Given the description of an element on the screen output the (x, y) to click on. 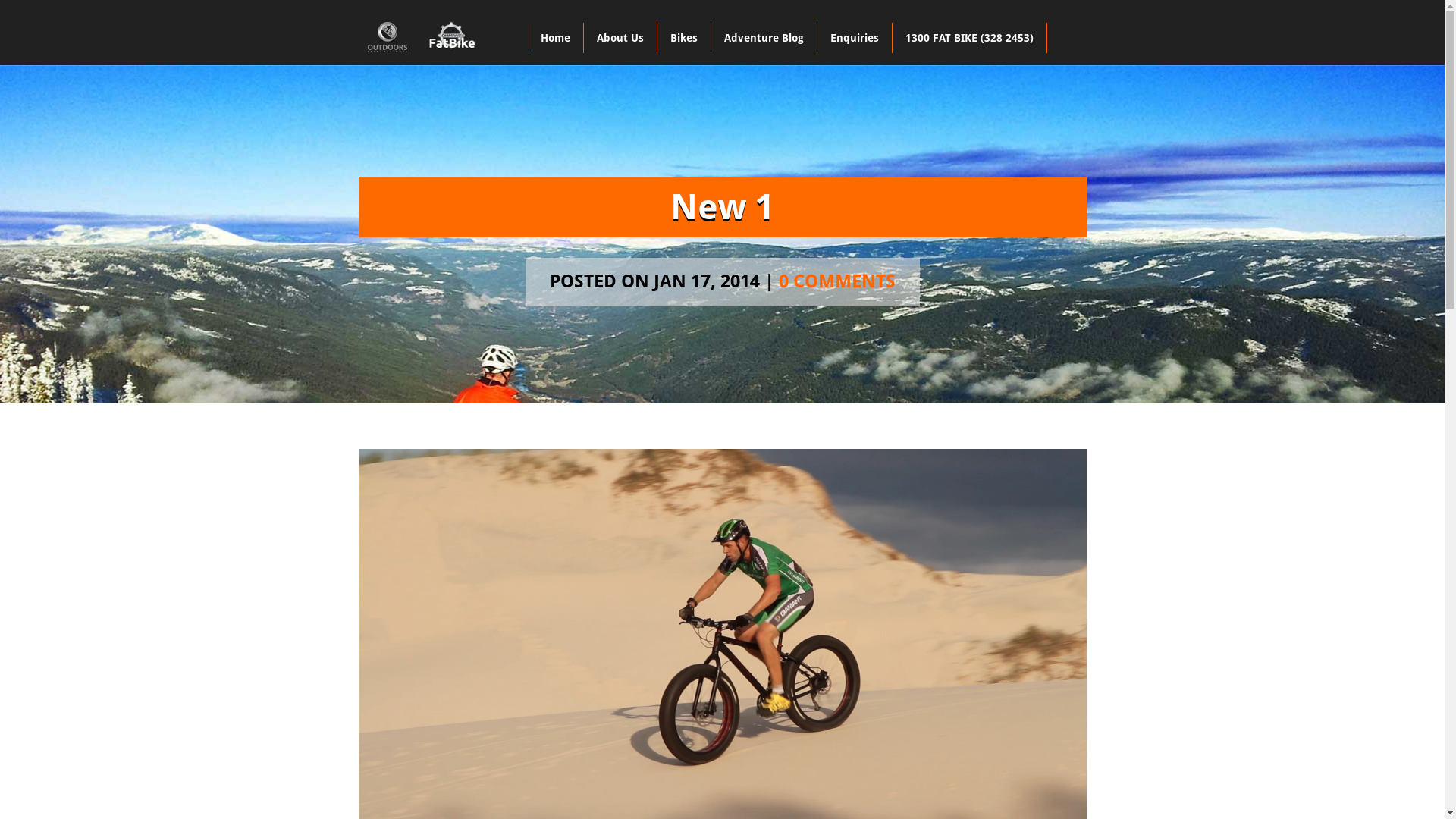
Adventure Blog Element type: text (764, 37)
Home Element type: text (555, 37)
Bikes Element type: text (684, 37)
About Us Element type: text (620, 37)
Enquiries Element type: text (854, 37)
0 COMMENTS Element type: text (836, 280)
1300 FAT BIKE (328 2453) Element type: text (969, 37)
